Given the description of an element on the screen output the (x, y) to click on. 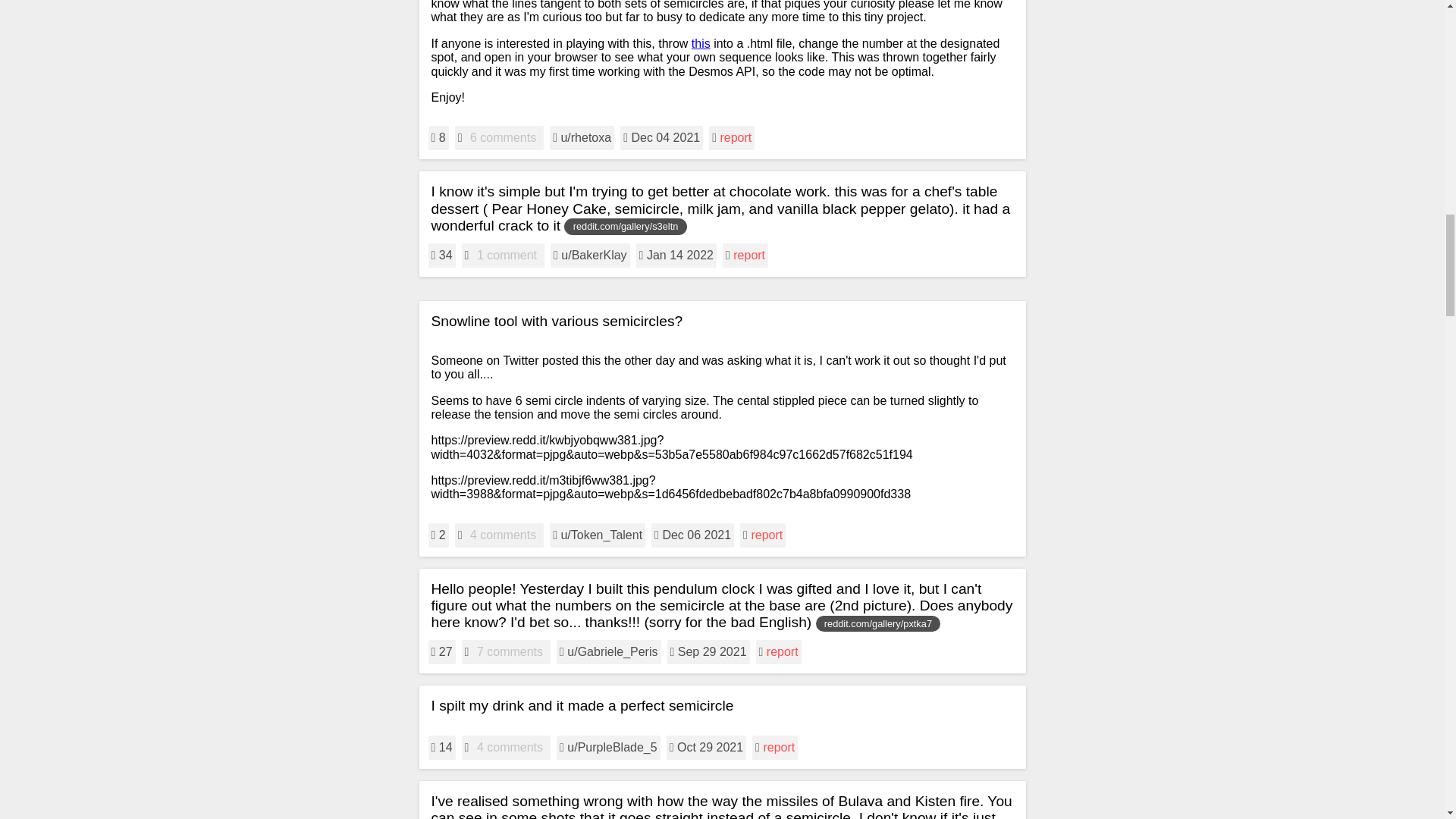
1 comment (506, 255)
this (700, 42)
6 comments (502, 137)
report (735, 137)
